Given the description of an element on the screen output the (x, y) to click on. 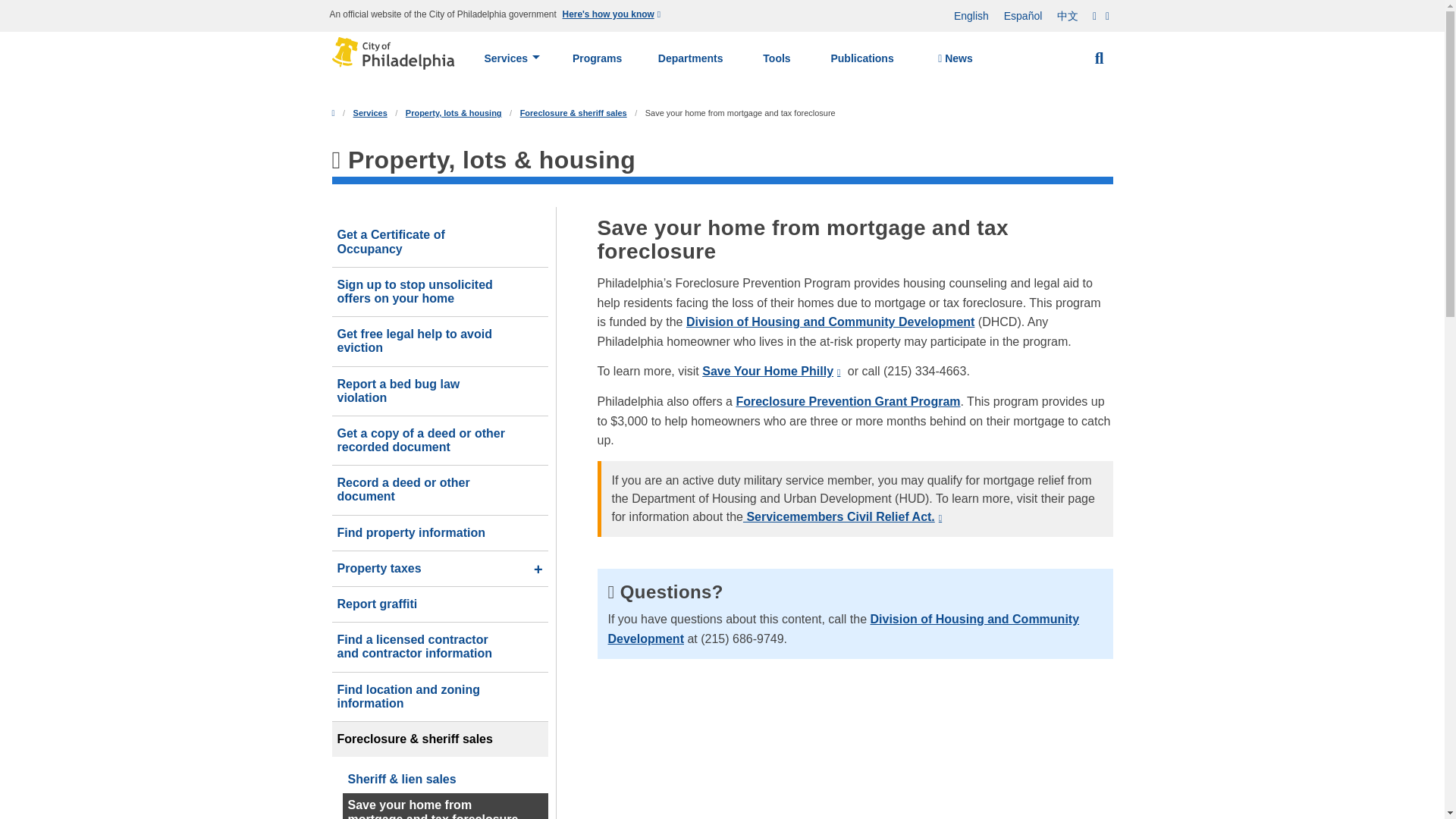
Get a Certificate of Occupancy (439, 241)
Report a bed bug law violation (439, 390)
Here's how you know (612, 15)
Publications (862, 58)
Programs (597, 58)
Tools (776, 58)
Sign up to stop unsolicited offers on your home (439, 291)
Departments (690, 58)
English (970, 15)
News (954, 58)
Get free legal help to avoid eviction (439, 340)
Services (370, 112)
Services (511, 58)
